Given the description of an element on the screen output the (x, y) to click on. 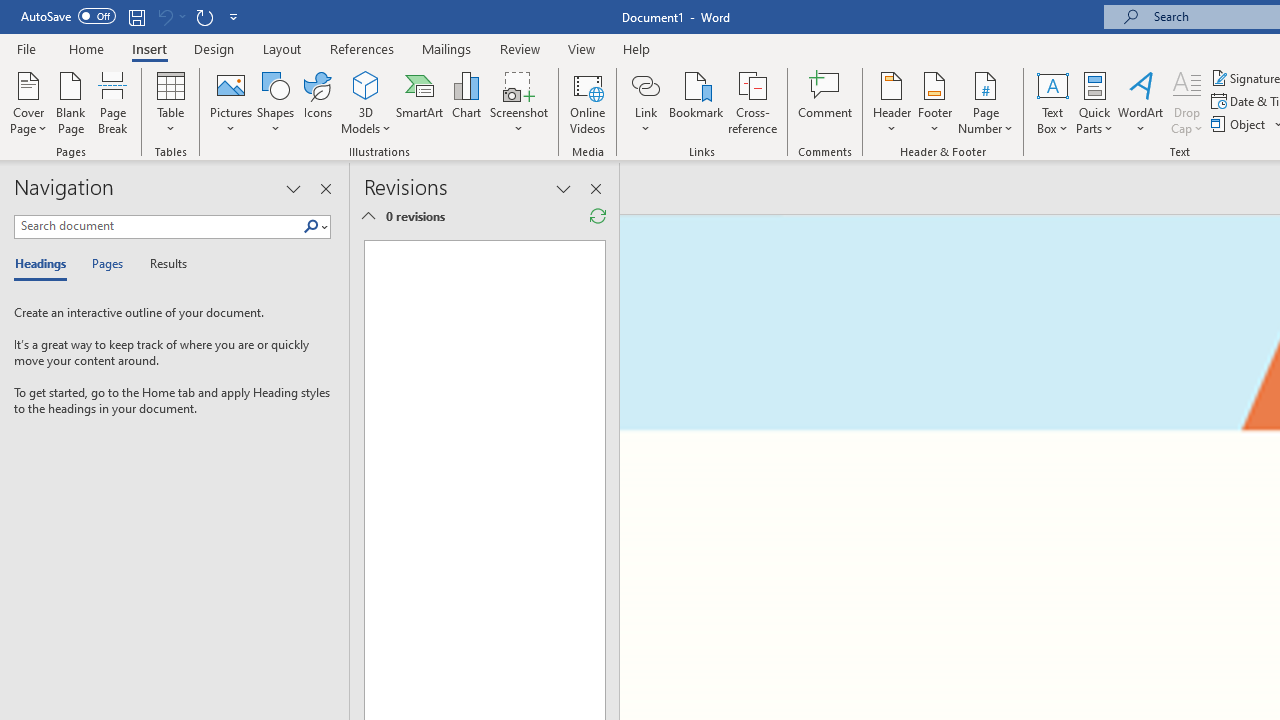
Object... (1240, 124)
Text Box (1052, 102)
Headings (45, 264)
Blank Page (70, 102)
Repeat Doc Close (204, 15)
Pages (105, 264)
Results (161, 264)
Refresh Reviewing Pane (597, 215)
